Given the description of an element on the screen output the (x, y) to click on. 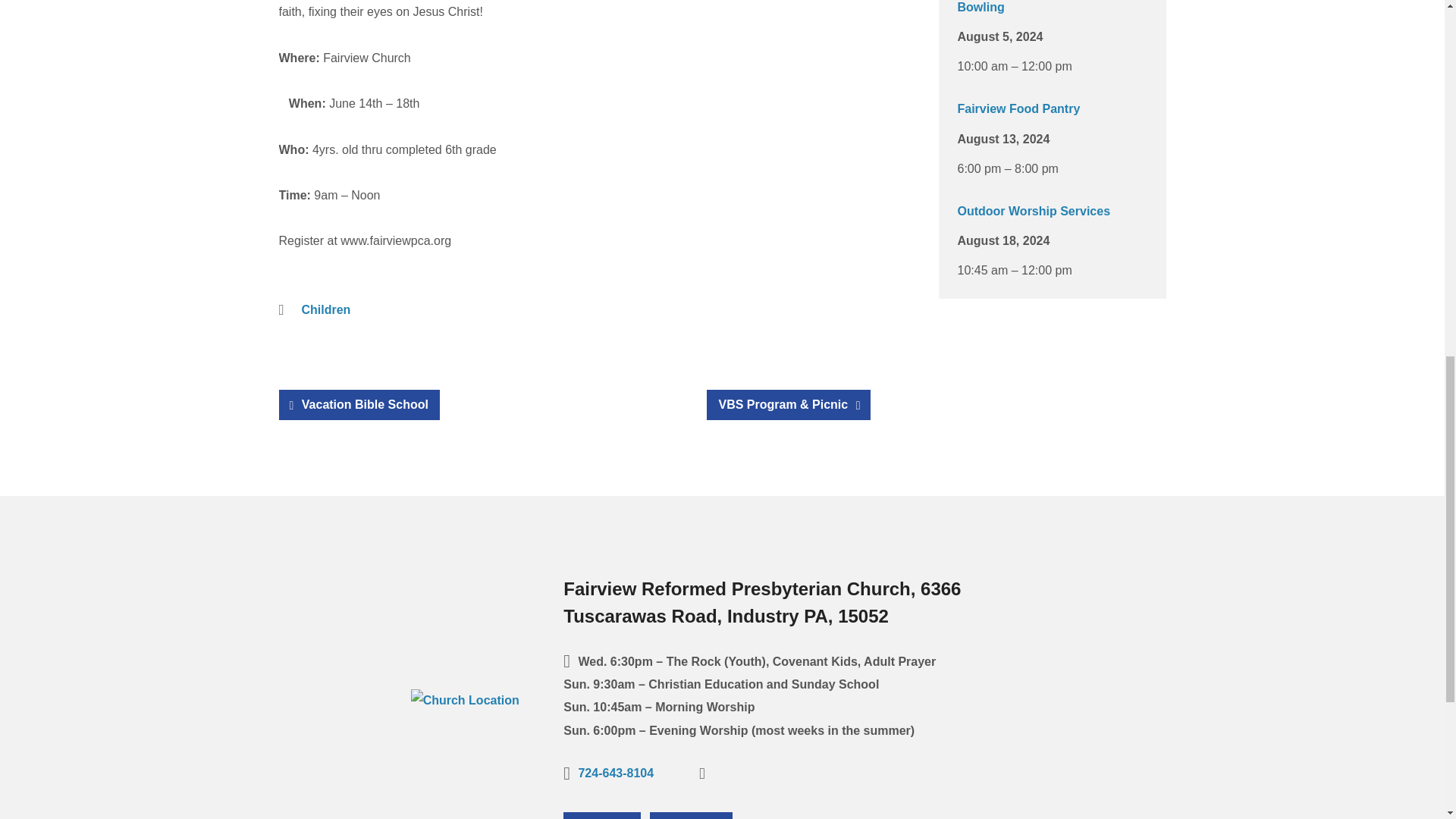
Bowling (980, 6)
Church Location (464, 699)
Outdoor Worship Services (1032, 210)
Fairview Food Pantry (1018, 108)
